Given the description of an element on the screen output the (x, y) to click on. 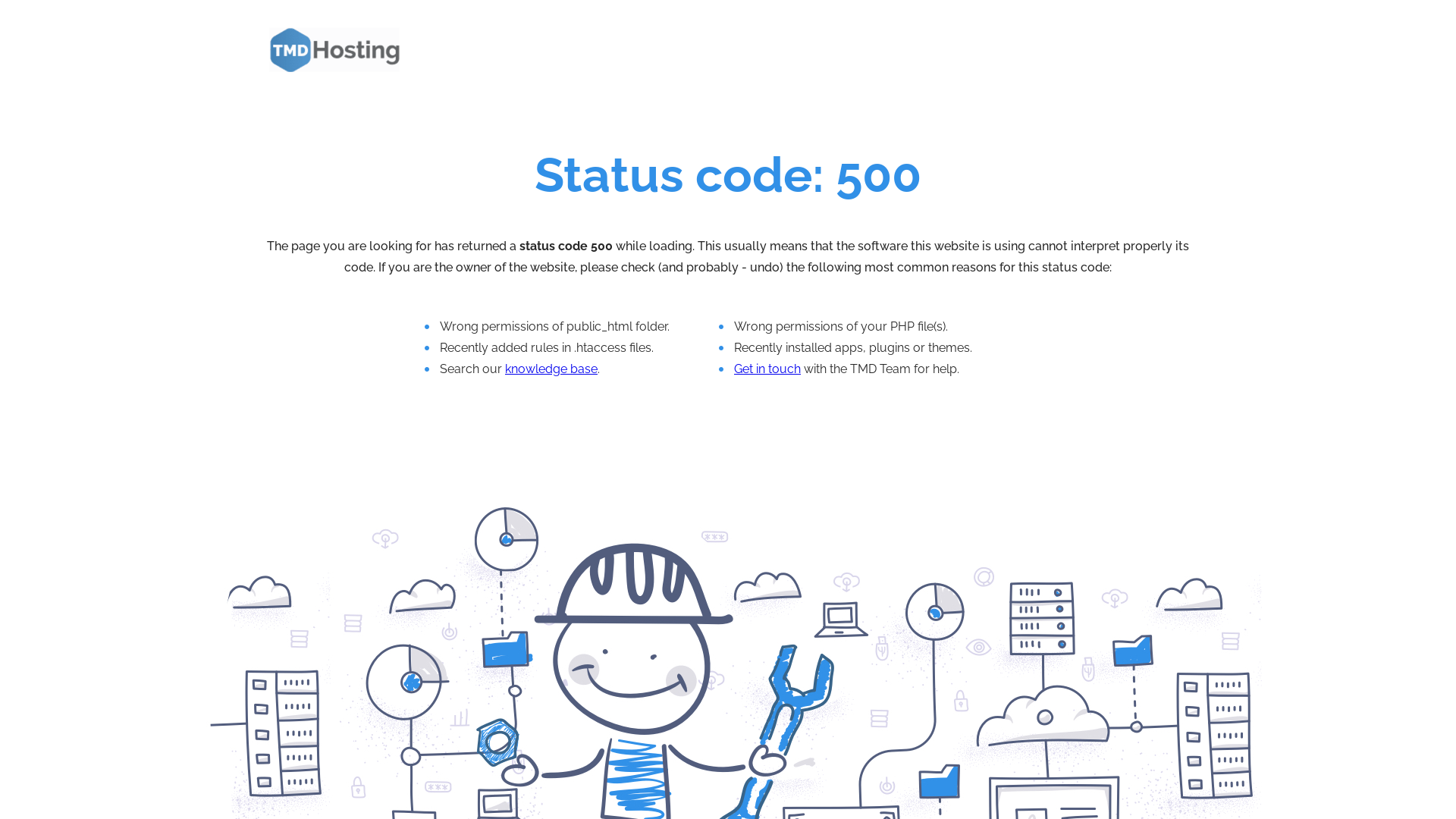
knowledge base Element type: text (551, 368)
Get in touch Element type: text (767, 368)
